Given the description of an element on the screen output the (x, y) to click on. 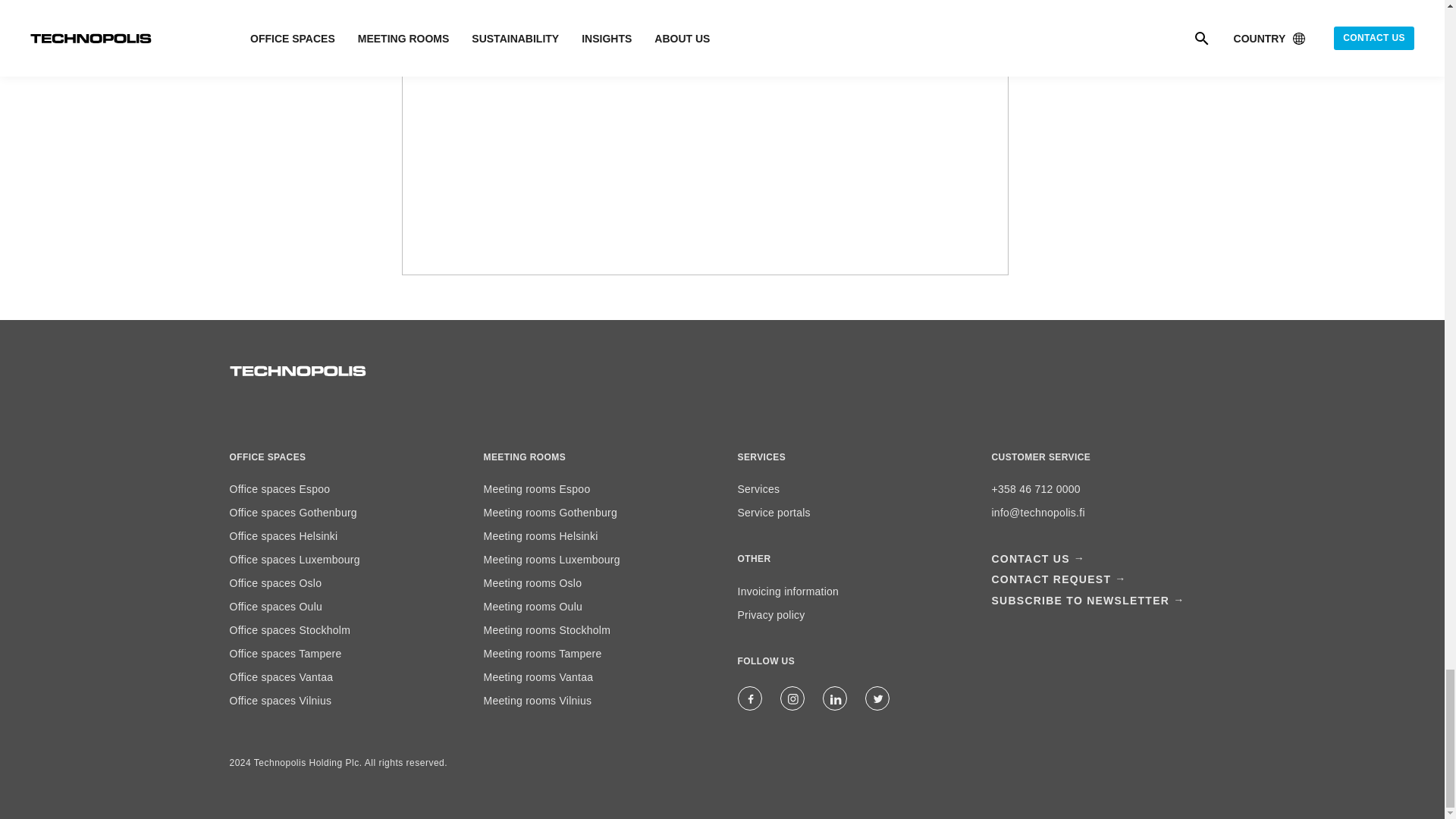
Office spaces Luxembourg (293, 559)
Office spaces Espoo (279, 489)
Meeting rooms Tampere (542, 653)
Meeting rooms Vilnius (537, 700)
MEETING ROOMS (524, 457)
Meeting rooms Oulu (533, 606)
Service portals (772, 512)
Office spaces Oslo (274, 582)
Meeting rooms Gothenburg (550, 512)
Office spaces Helsinki (282, 535)
Meeting rooms Helsinki (540, 535)
OFFICE SPACES (266, 457)
Office spaces Vilnius (279, 700)
Office spaces Oulu (274, 606)
Office spaces Gothenburg (292, 512)
